Given the description of an element on the screen output the (x, y) to click on. 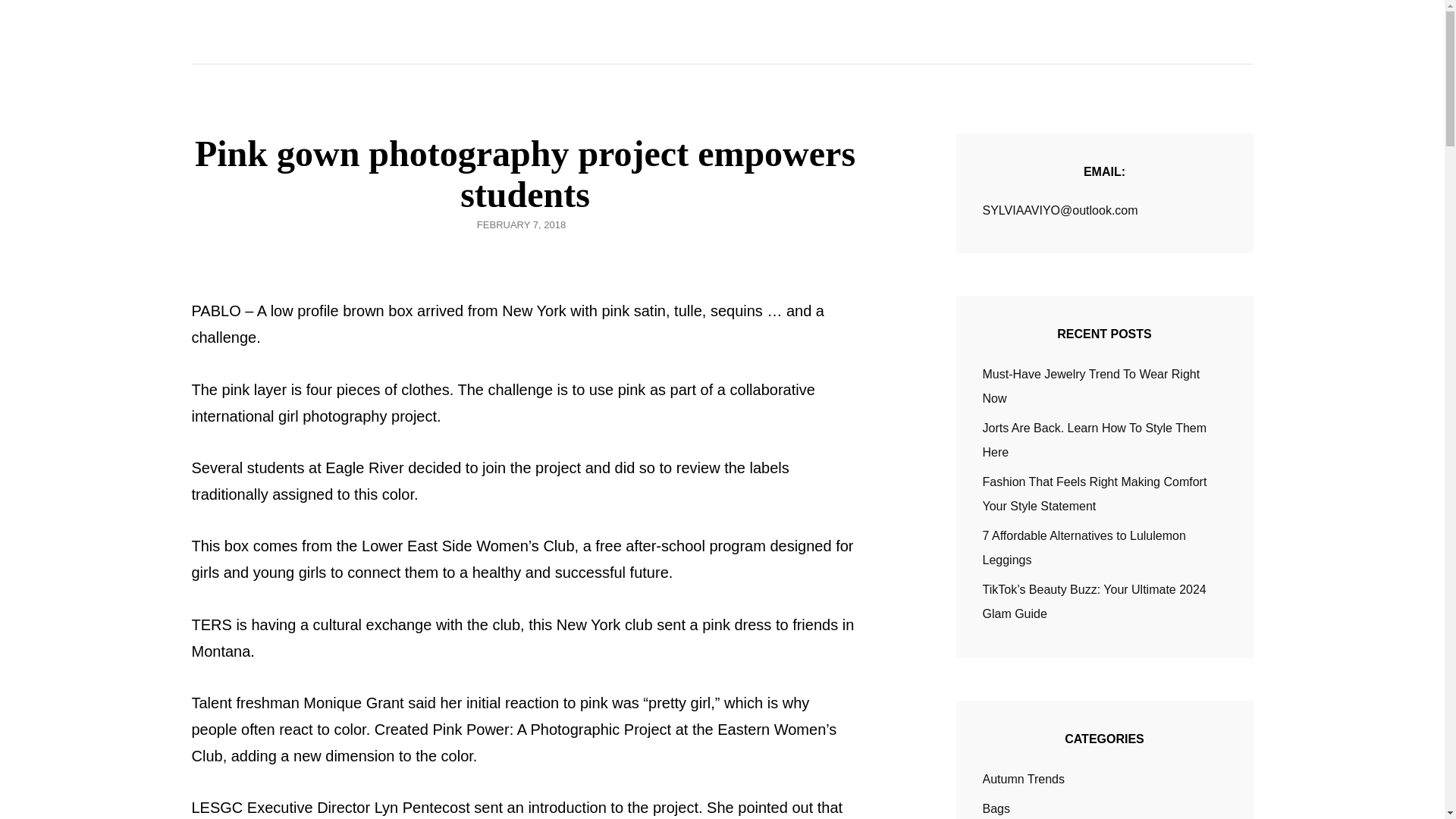
Must-Have Jewelry Trend To Wear Right Now (1090, 385)
Fashion That Feels Right Making Comfort Your Style Statement (1094, 493)
FEBRUARY 7, 2018 (521, 224)
7 Affordable Alternatives to Lululemon Leggings (1084, 547)
Jorts Are Back. Learn How To Style Them Here (1094, 439)
Autumn Trends (1023, 779)
Bags (996, 807)
